Given the description of an element on the screen output the (x, y) to click on. 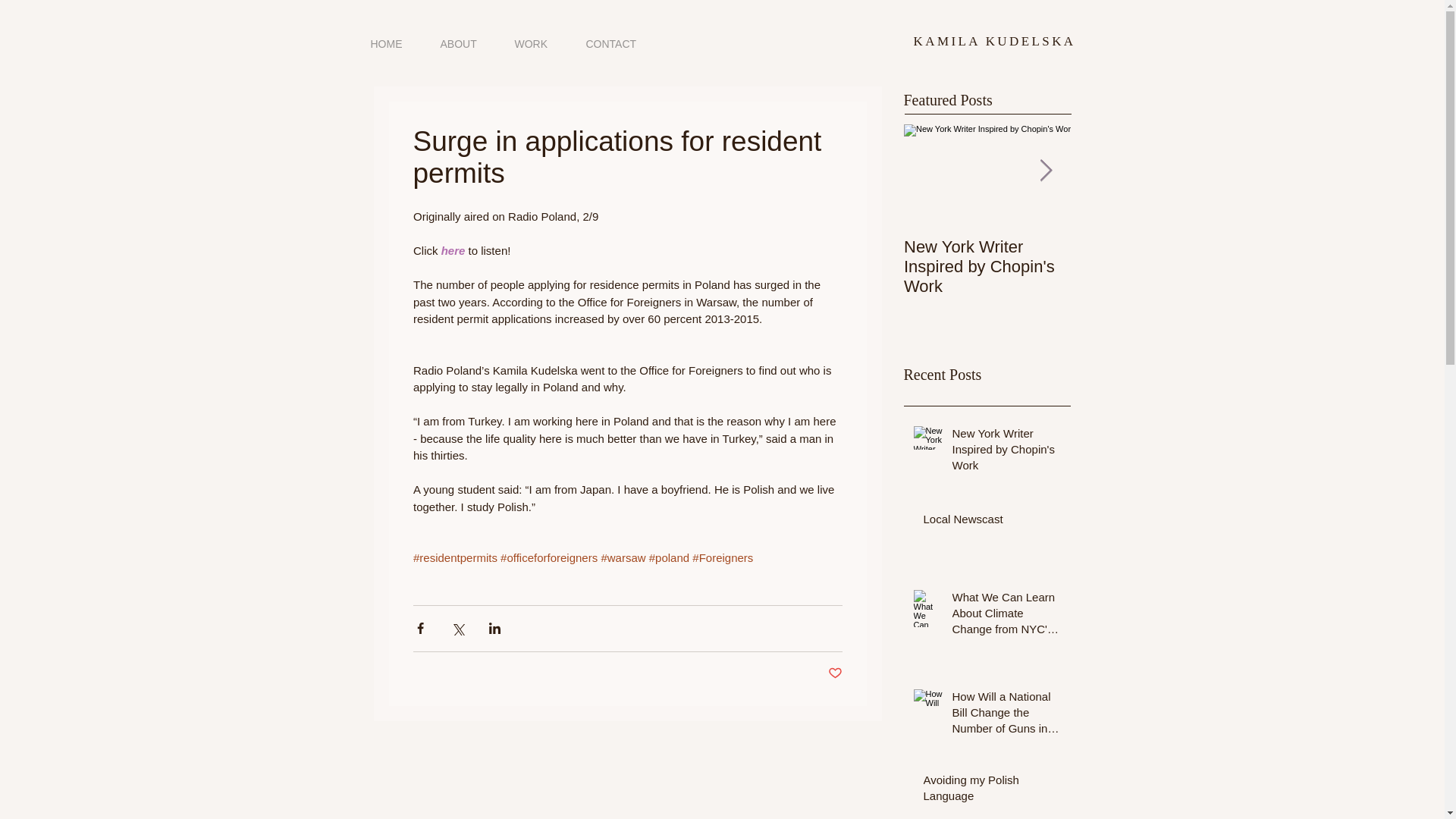
New York Writer Inspired by Chopin's Work (1006, 452)
ABOUT (459, 44)
here  (454, 250)
How Will a National Bill Change the Number of Guns in NYC? (1006, 715)
Local Newscast (992, 522)
HOME (387, 44)
Post not marked as liked (835, 673)
WORK (531, 44)
New York Writer Inspired by Chopin's Work (987, 266)
KAMILA KUDELSKA (994, 41)
CONTACT (611, 44)
Avoiding my Polish Language (992, 790)
